Given the description of an element on the screen output the (x, y) to click on. 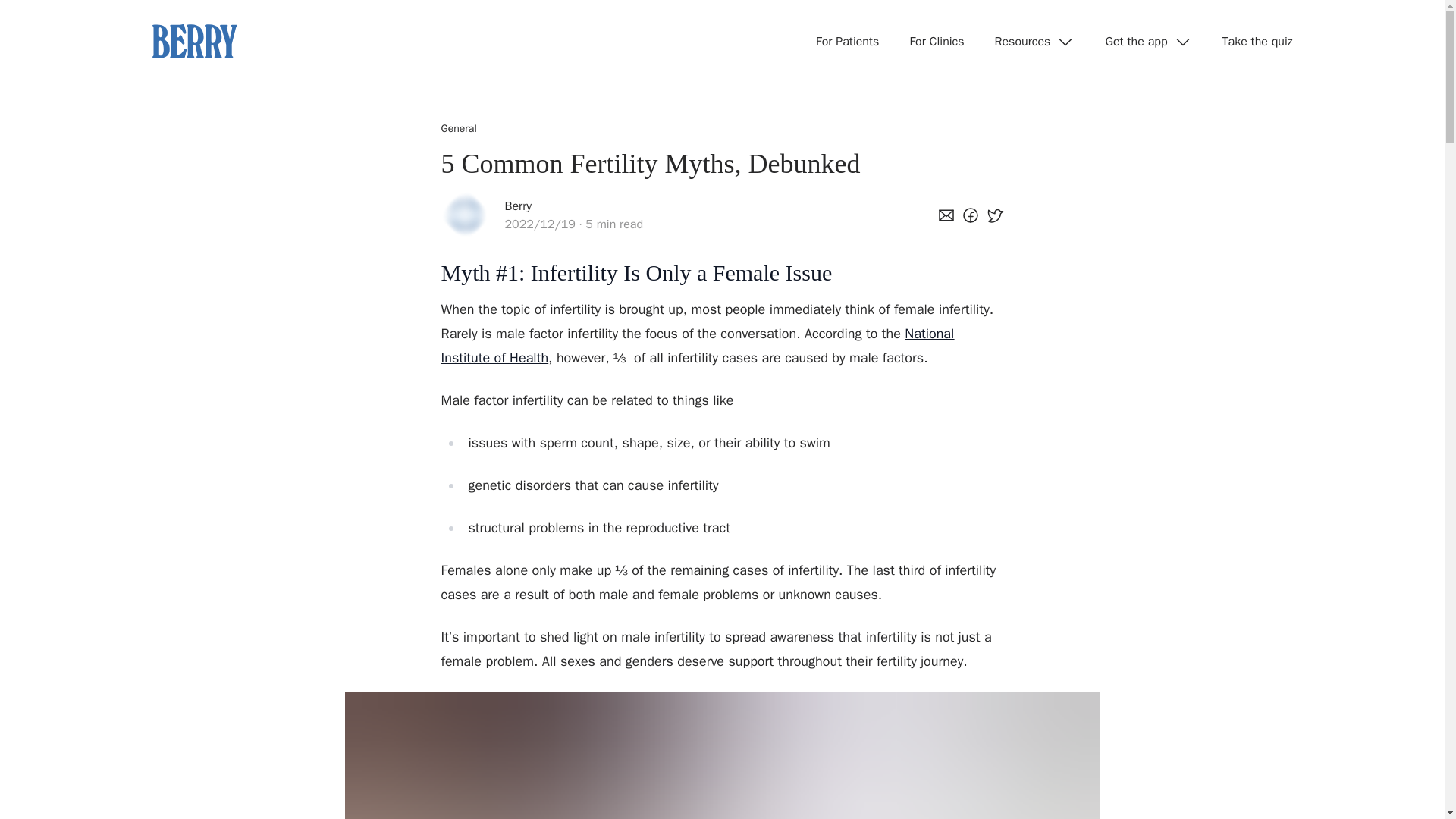
Resources (1034, 41)
Take the quiz (1257, 41)
For Clinics (935, 41)
For Patients (847, 41)
National Institute of Health (698, 345)
Get the app (1148, 41)
